Given the description of an element on the screen output the (x, y) to click on. 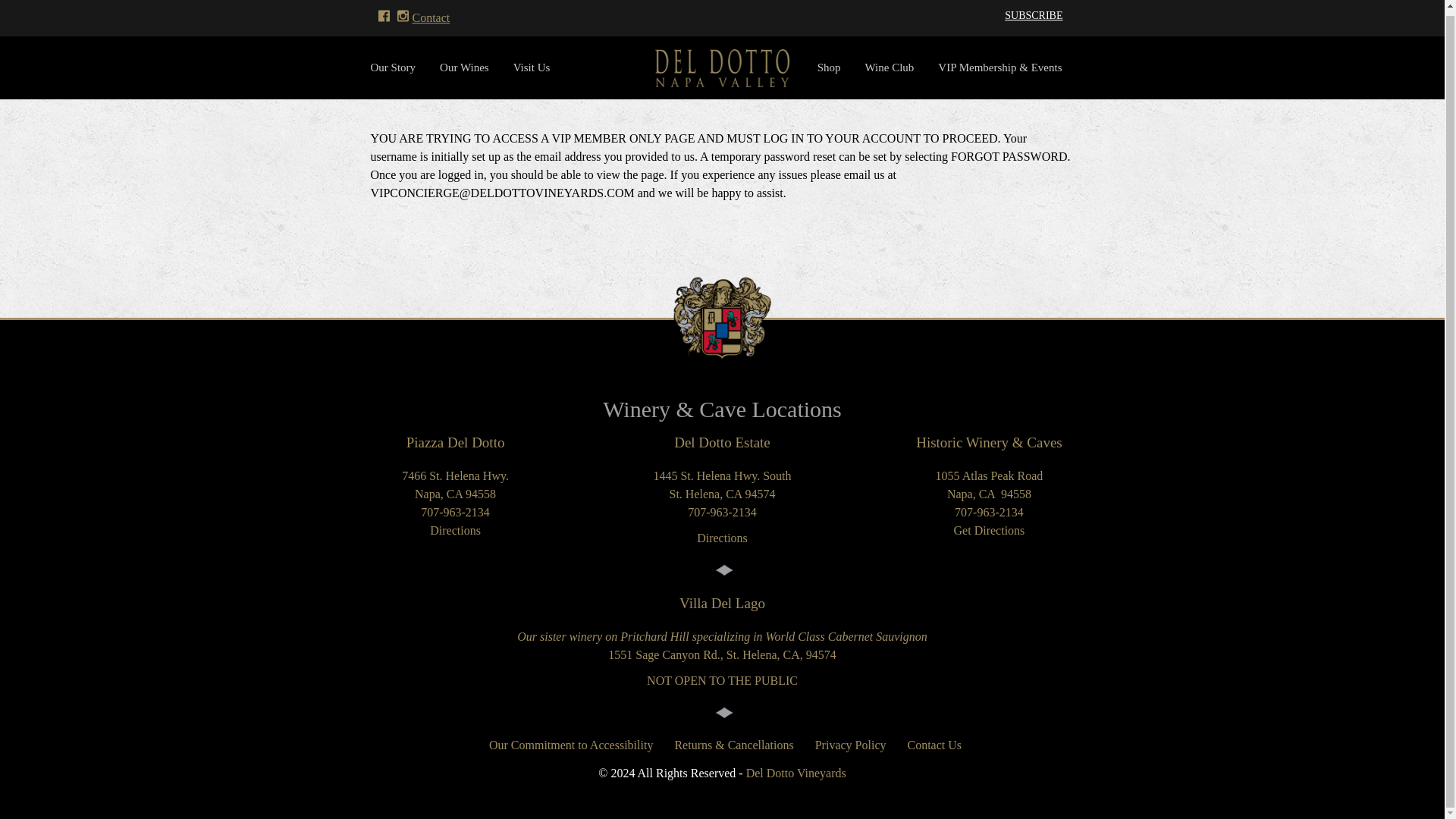
Our Commitment to Accessibility (571, 743)
Directions (722, 537)
Contact Us (930, 743)
Get Directions (989, 530)
Privacy Policy (850, 743)
Our Wines (464, 67)
Visit Us (531, 67)
Shop (829, 67)
SUBSCRIBE (1033, 15)
Del Dotto Vineyards (795, 772)
Piazza Del Dotto (455, 442)
Del Dotto Estate (722, 442)
Our Story (398, 67)
Directions (454, 530)
Wine Club (888, 67)
